Given the description of an element on the screen output the (x, y) to click on. 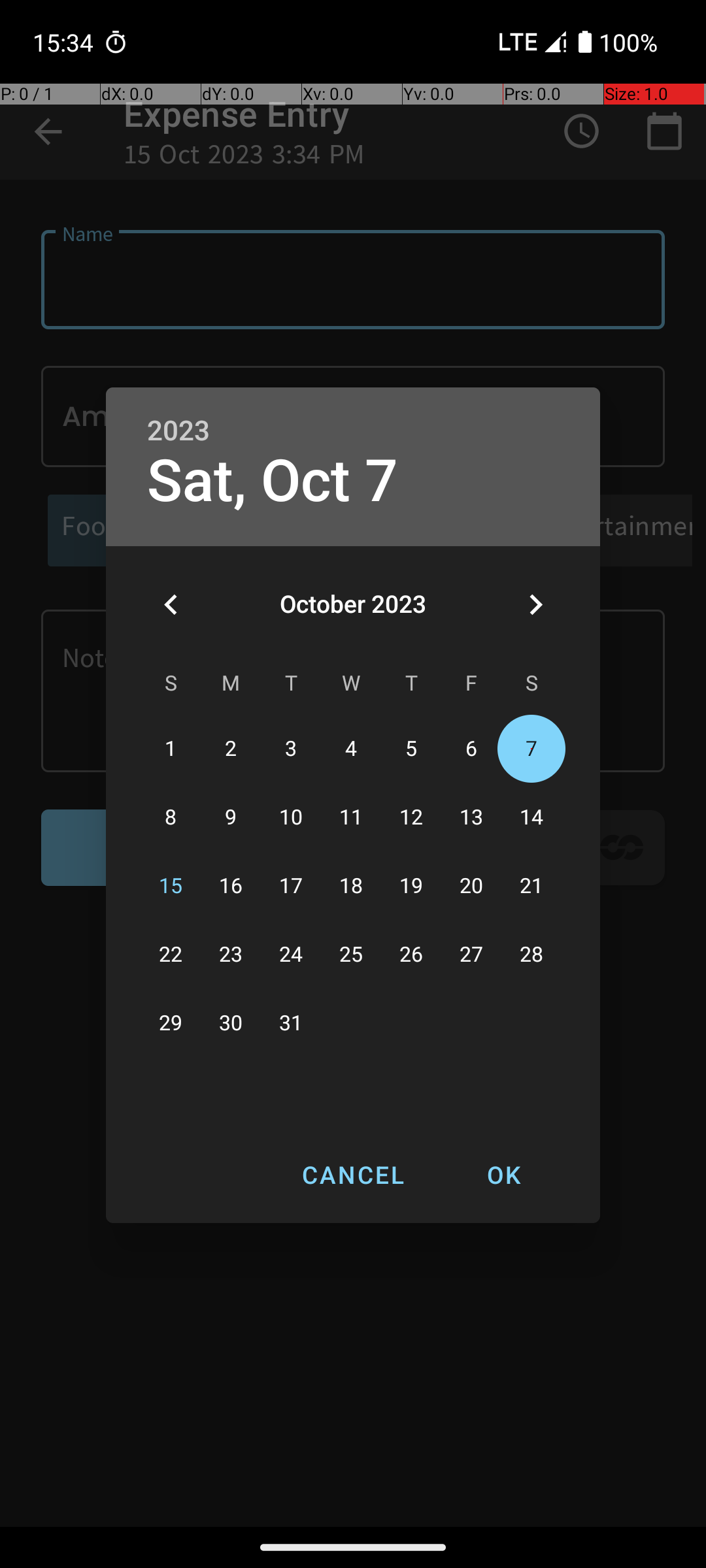
Sat, Oct 7 Element type: android.widget.TextView (272, 480)
